Given the description of an element on the screen output the (x, y) to click on. 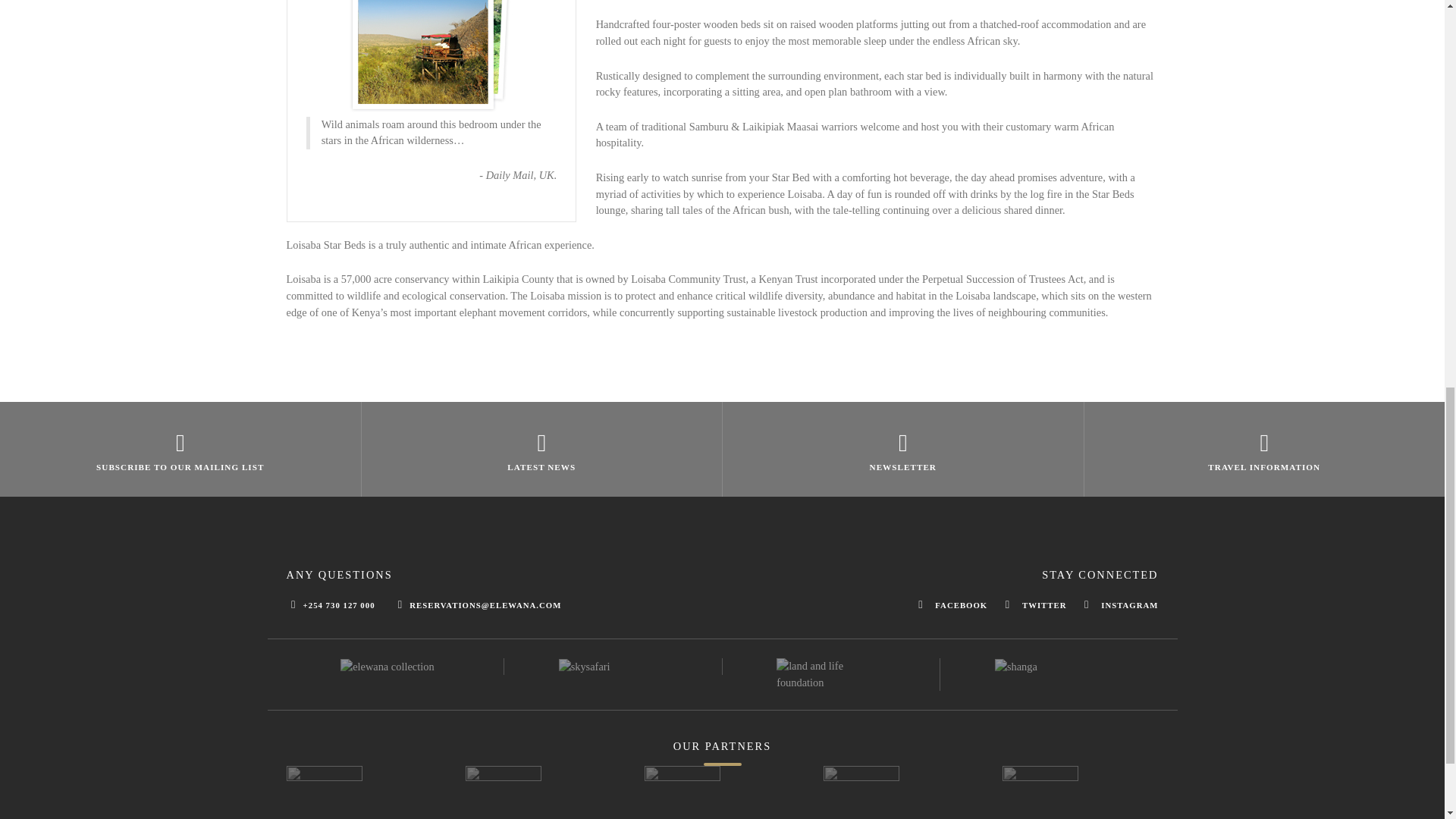
Newsletter (903, 449)
INSTAGRAM (1117, 604)
TWITTER (1035, 604)
FACEBOOK (952, 604)
Latest News (541, 449)
Subscribe to Our Mailing List (180, 449)
